Given the description of an element on the screen output the (x, y) to click on. 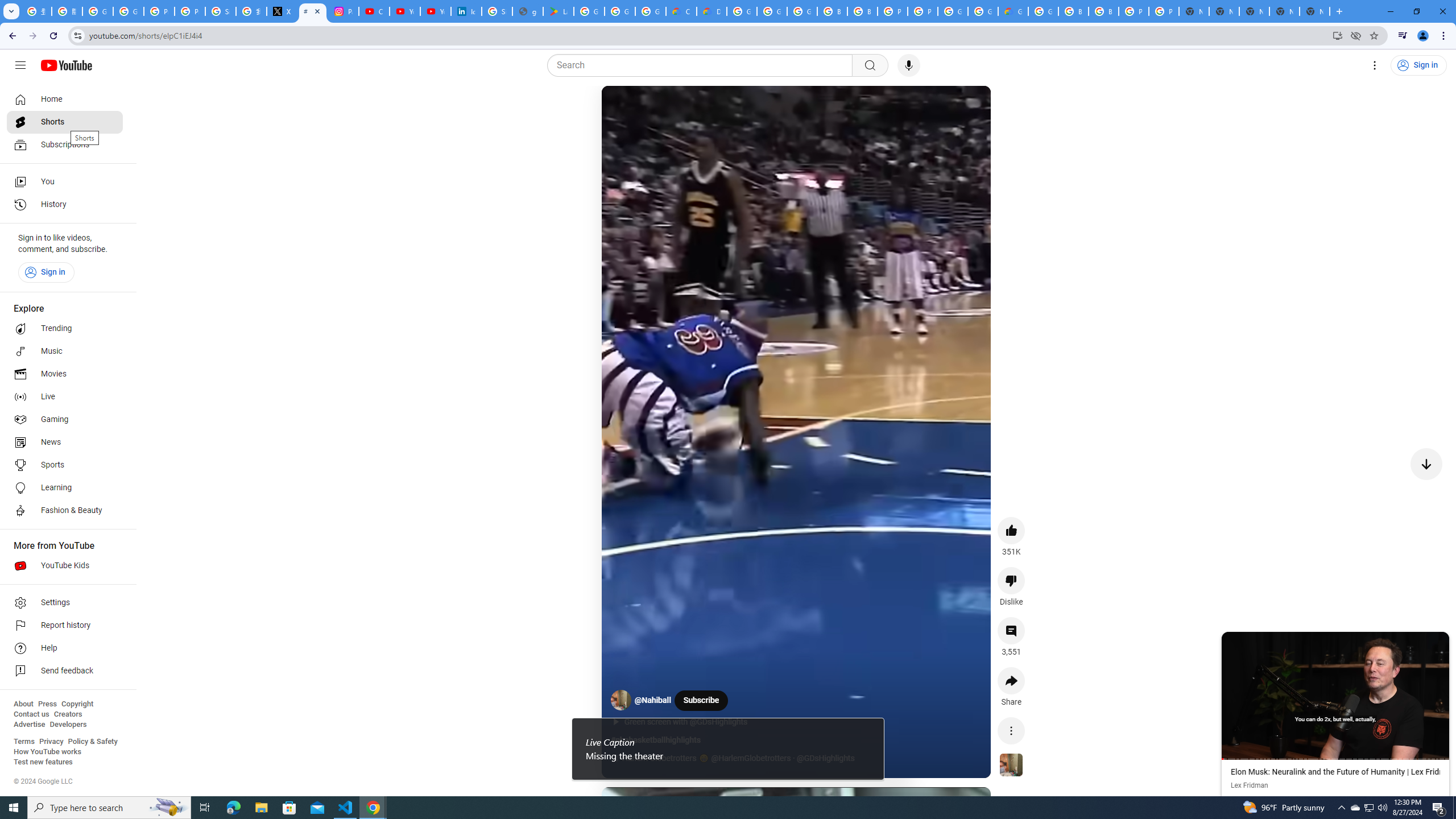
Google Cloud Platform (982, 11)
Help (64, 648)
Music (64, 350)
About (23, 703)
Fashion & Beauty (64, 510)
X (282, 11)
like this video along with 351K other people (1011, 530)
